Given the description of an element on the screen output the (x, y) to click on. 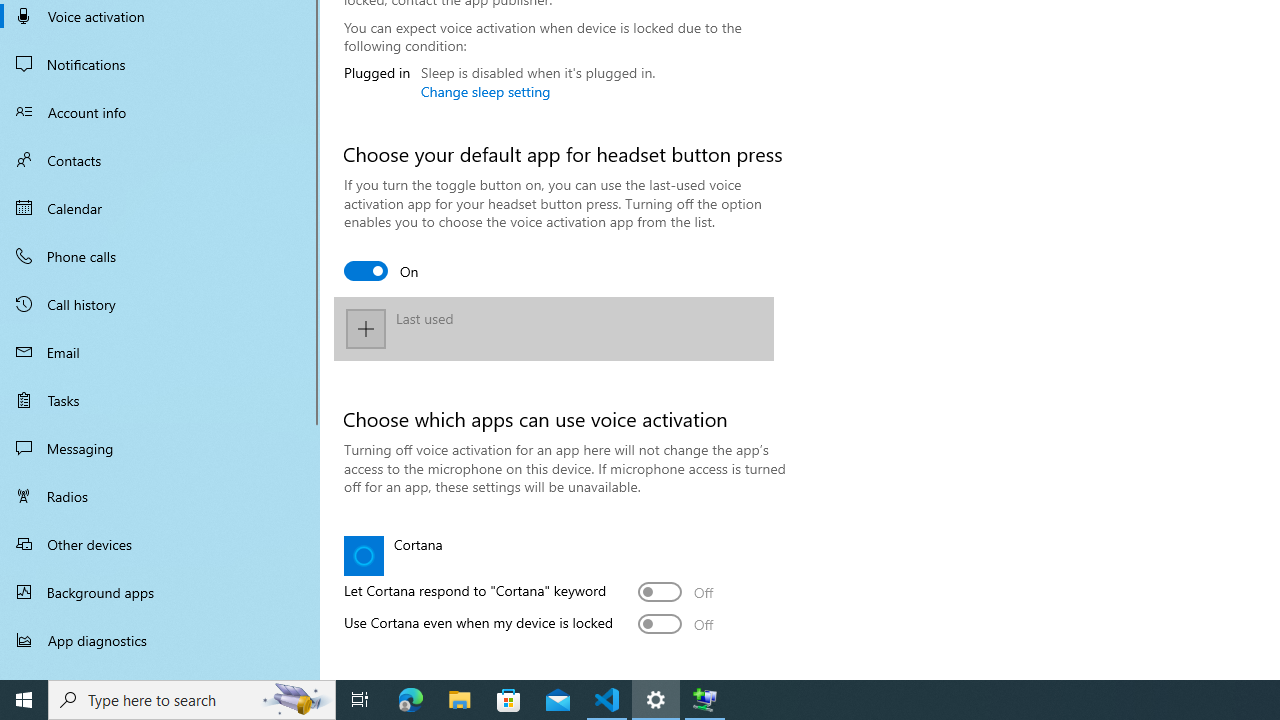
Automatic file downloads (160, 671)
Last used (554, 328)
Extensible Wizards Host Process - 1 running window (704, 699)
Use Cortana even when my device is locked (675, 623)
Account info (160, 111)
App diagnostics (160, 639)
Messaging (160, 448)
Other devices (160, 543)
